Given the description of an element on the screen output the (x, y) to click on. 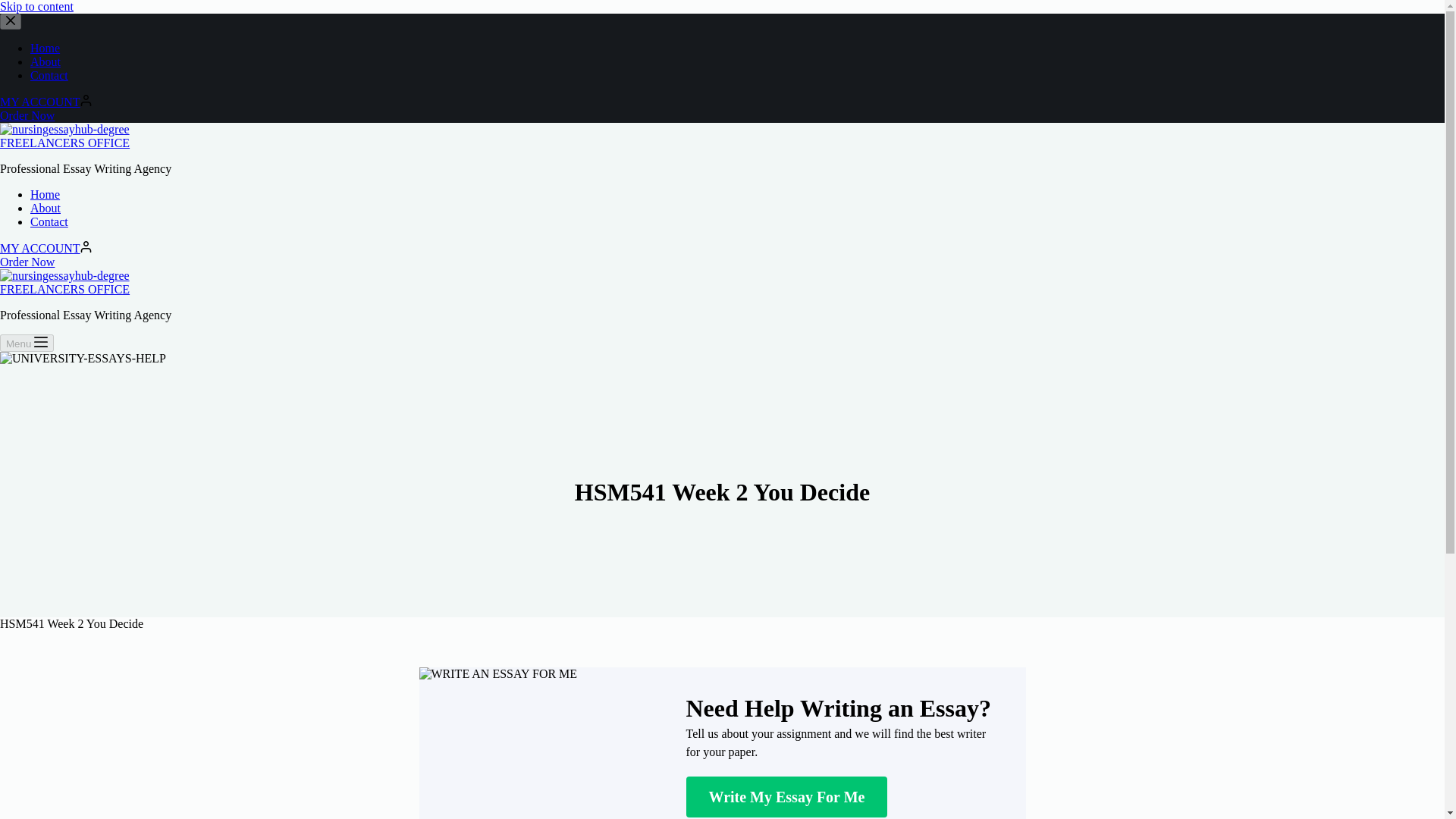
MY ACCOUNT (45, 247)
Menu (26, 343)
Contact (49, 74)
Order Now (27, 261)
Skip to content (37, 6)
Contact (49, 221)
Home (44, 47)
Order Now (27, 115)
About (45, 61)
About (45, 207)
